Given the description of an element on the screen output the (x, y) to click on. 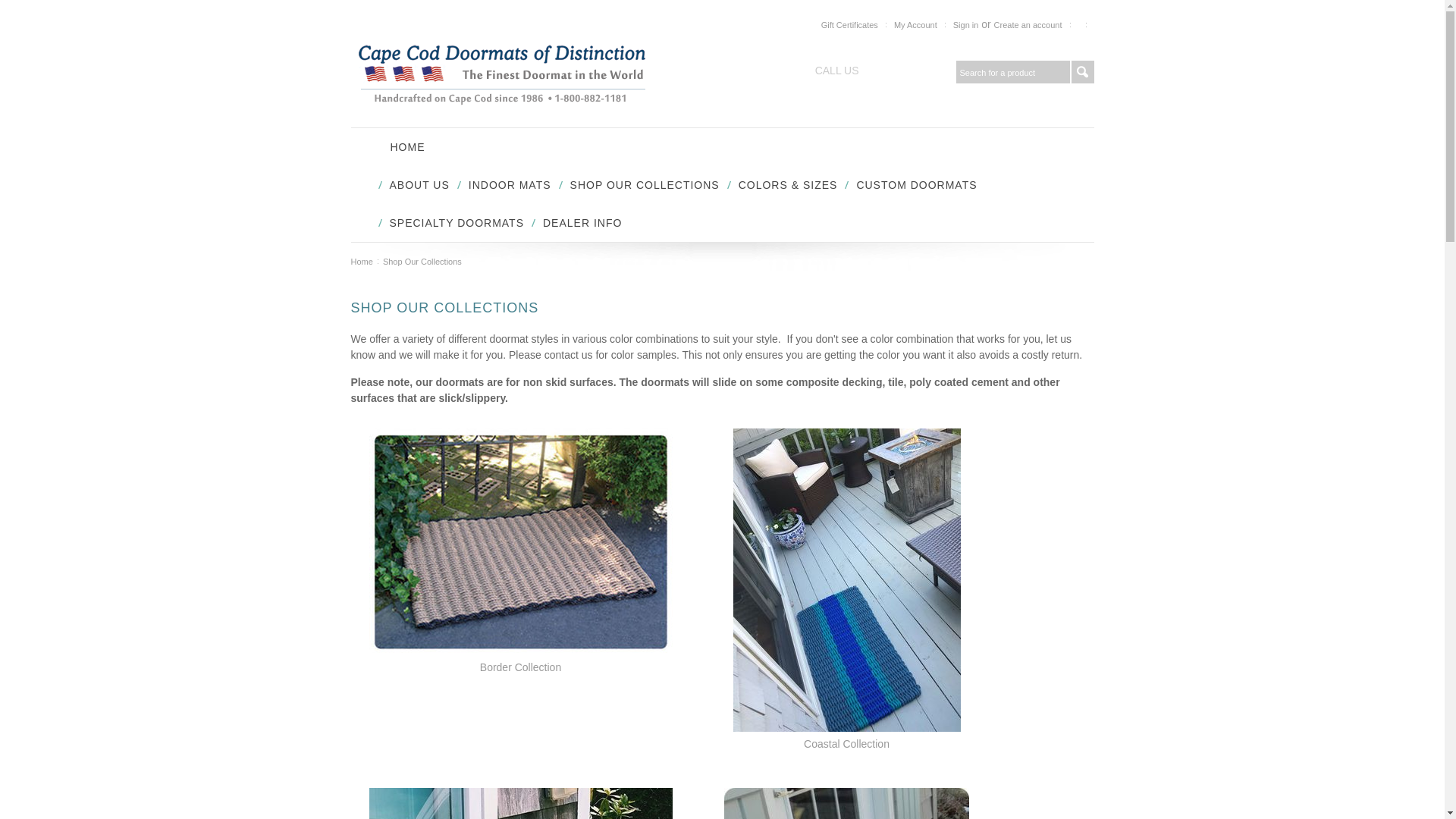
Create an account (1028, 25)
DEALER INFO (582, 222)
Sign in (965, 25)
Border Collection (520, 666)
ABOUT US (419, 184)
Coastal Collection (846, 743)
Search for a product (1011, 71)
Gift Certificates (849, 25)
CUSTOM DOORMATS (916, 184)
GO (1081, 71)
INDOOR MATS (509, 184)
Home (363, 261)
SPECIALTY DOORMATS (457, 222)
My Account (915, 25)
HOME (407, 146)
